Given the description of an element on the screen output the (x, y) to click on. 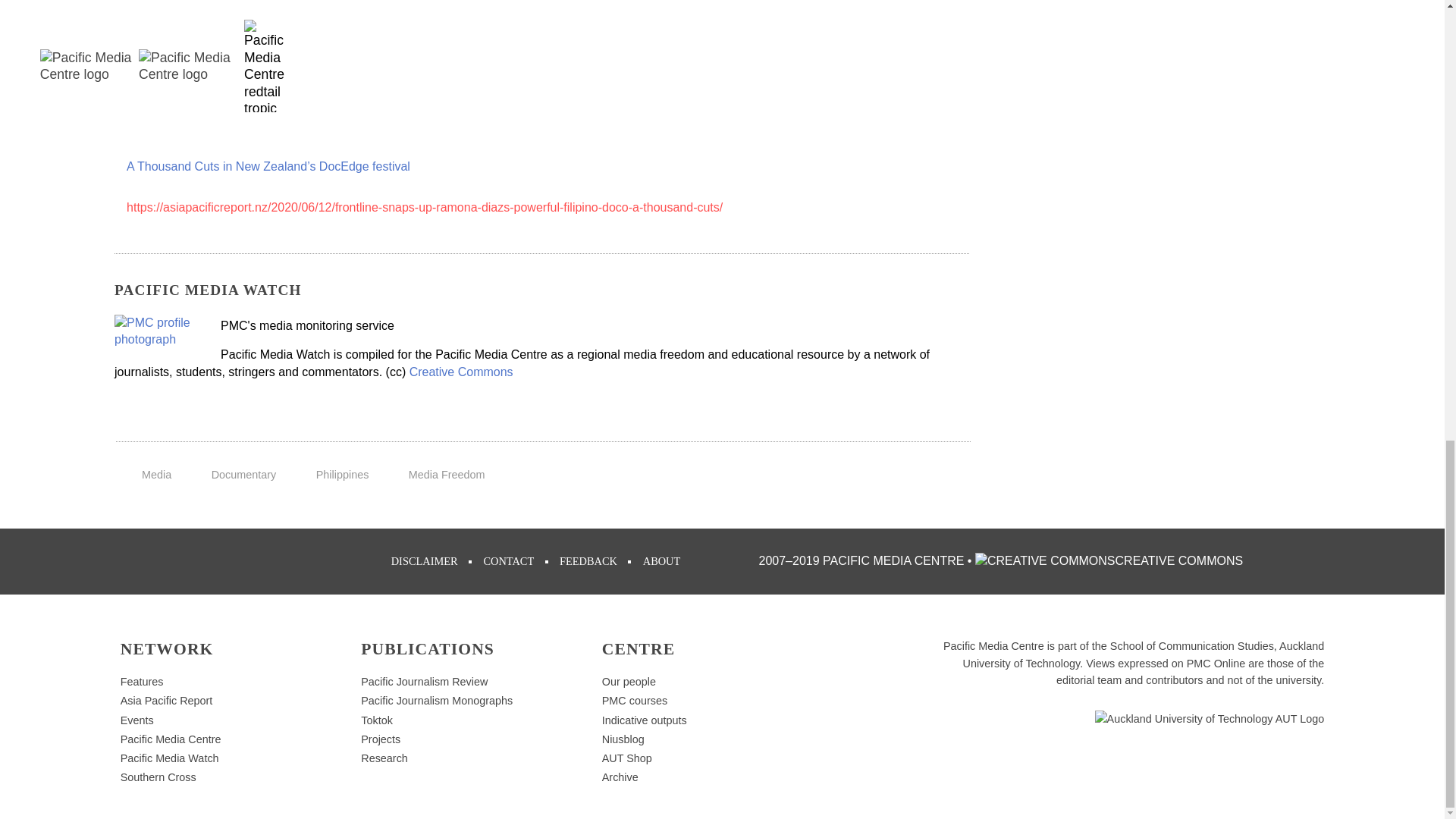
Pacific Media Watch (160, 331)
PACIFIC MEDIA WATCH (208, 289)
Media Freedom (446, 474)
Media (156, 474)
Philippines (342, 474)
Southern Cross radio (158, 776)
Documentary (243, 474)
Creative Commons (461, 371)
